Given the description of an element on the screen output the (x, y) to click on. 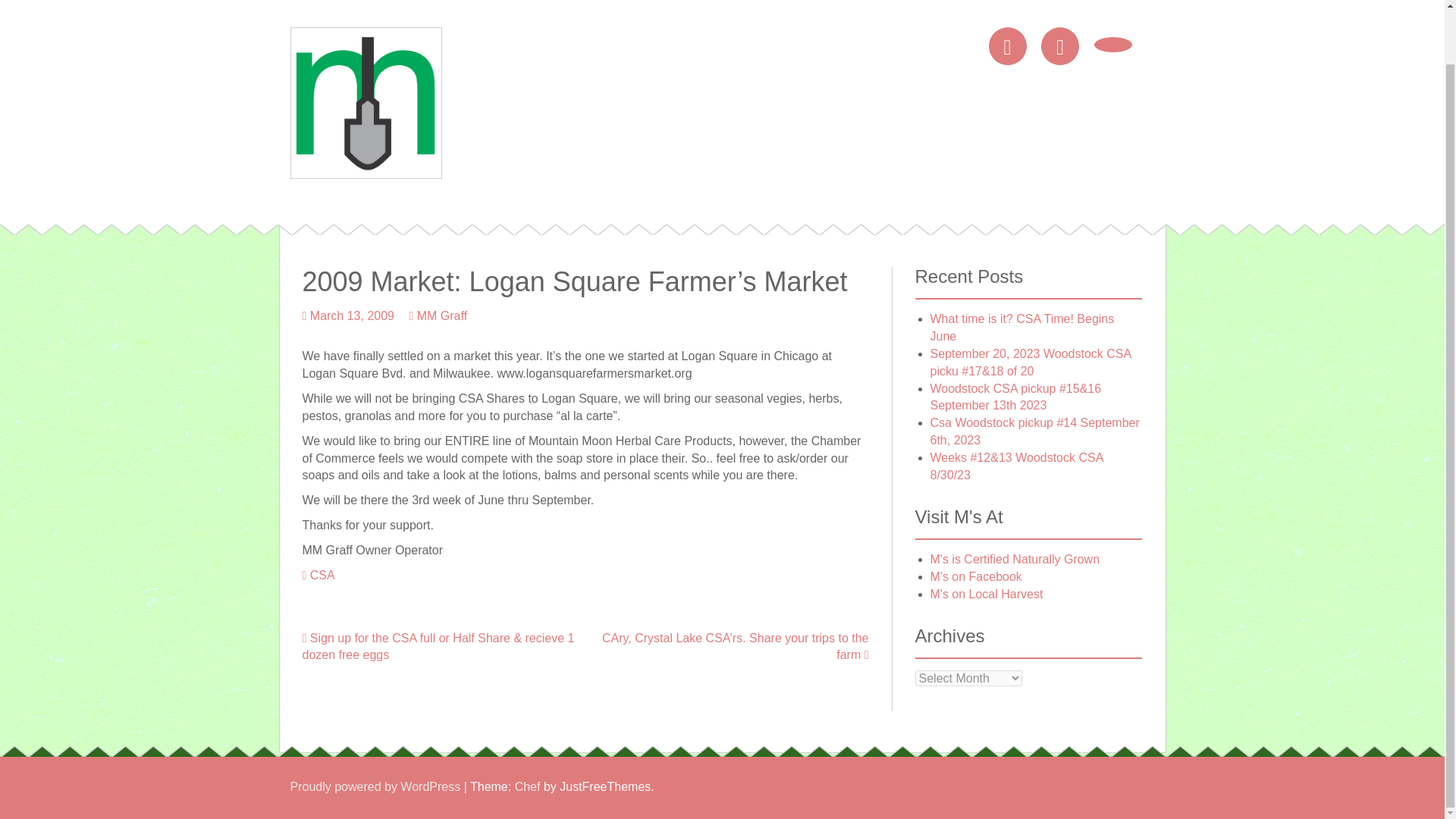
M's on Local Harvest (986, 594)
What time is it? CSA Time! Begins June (1021, 327)
M's on Facebook (976, 576)
M's is Certified Naturally Grown (1014, 558)
CSA (322, 574)
M's Organic Farm (365, 101)
Chef (527, 786)
Proudly powered by WordPress (374, 786)
MM Graff (441, 315)
March 13, 2009 (352, 315)
